Given the description of an element on the screen output the (x, y) to click on. 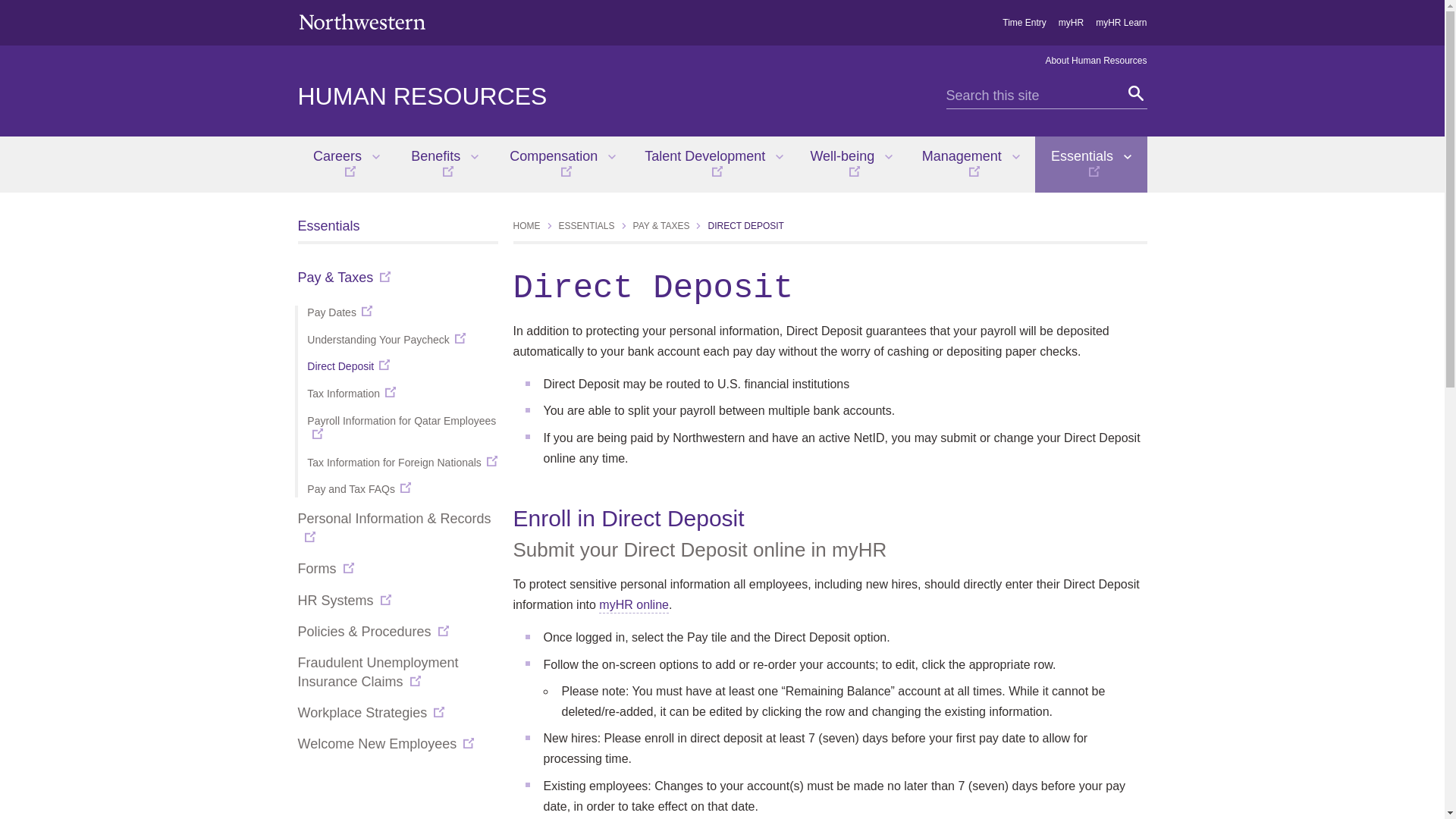
HUMAN RESOURCES (422, 94)
myHR (1070, 22)
myHR Learn (1121, 22)
About Human Resources (1096, 60)
Time Entry (1024, 22)
Northwestern University Home (361, 21)
